Given the description of an element on the screen output the (x, y) to click on. 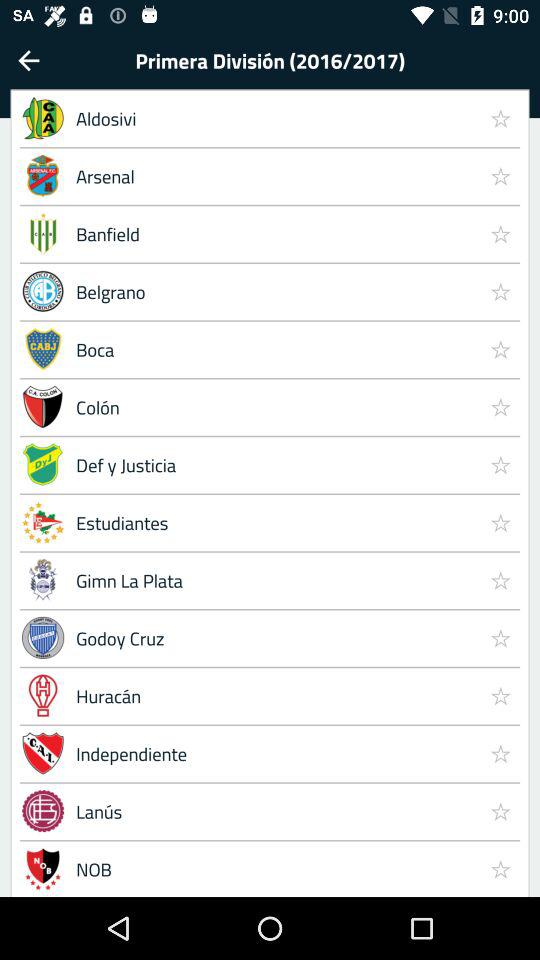
turn on the item next to aldosivi icon (500, 118)
